Given the description of an element on the screen output the (x, y) to click on. 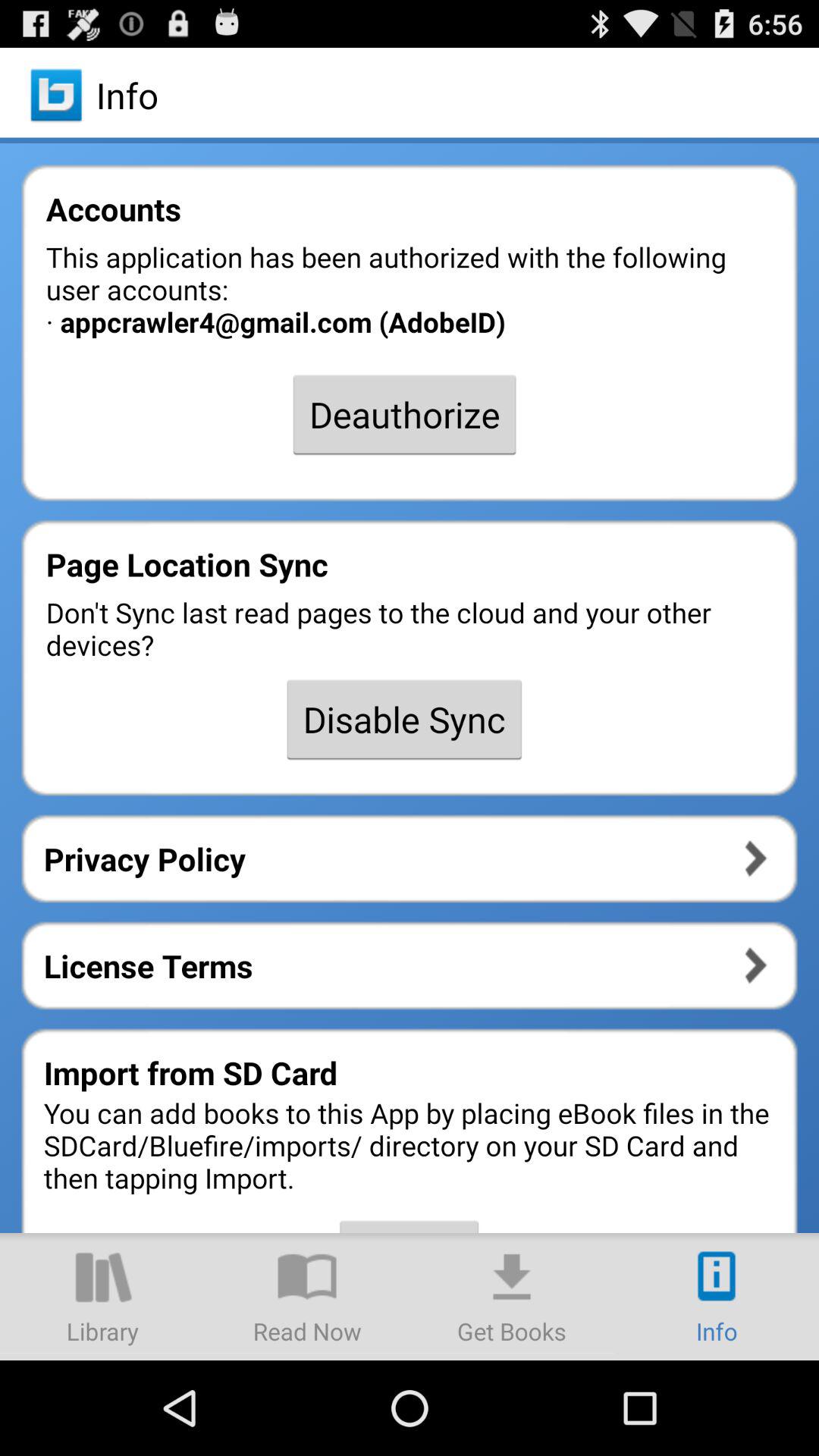
launch item below the you can add item (102, 1296)
